Given the description of an element on the screen output the (x, y) to click on. 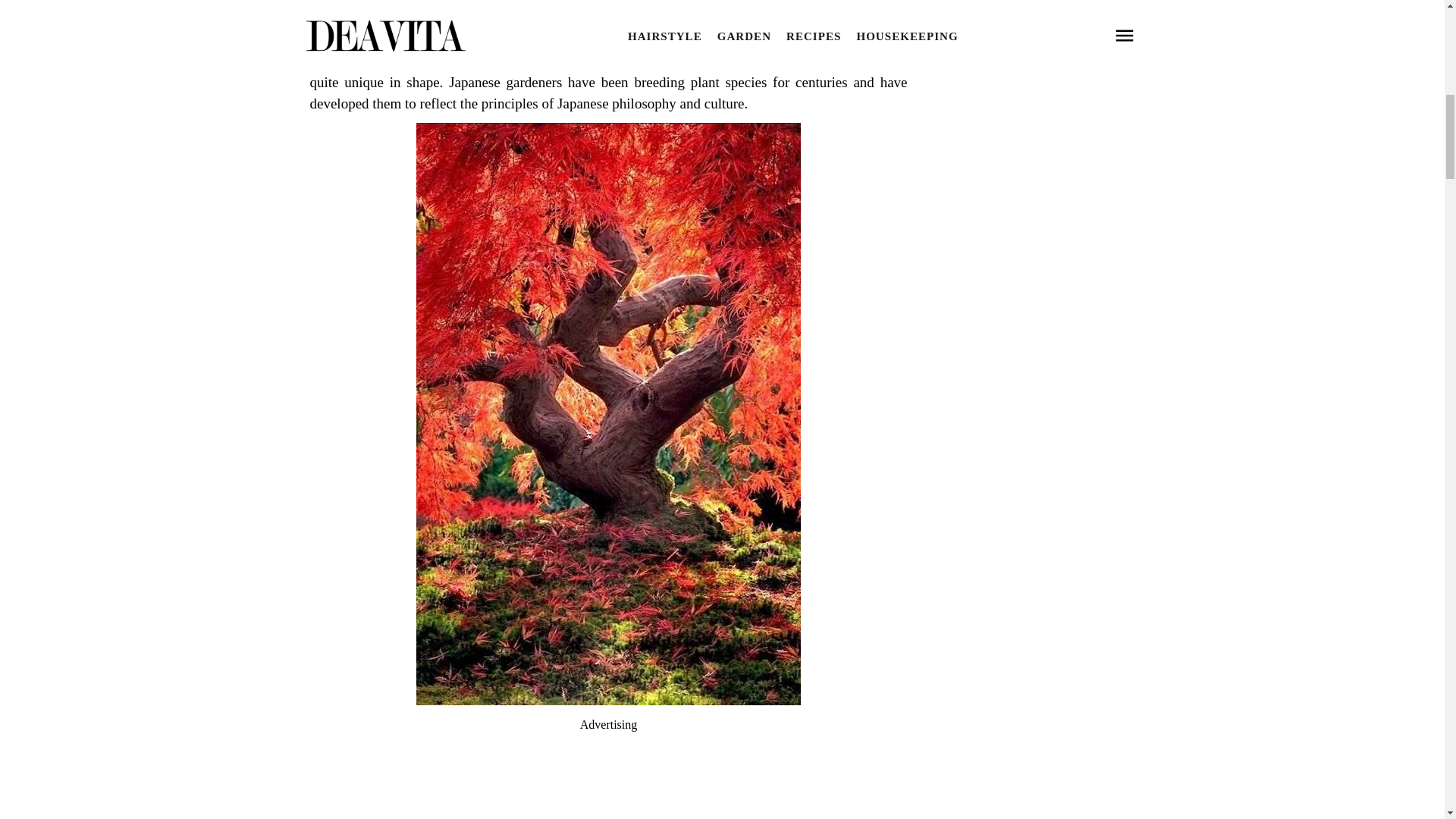
Plants for japanese garden autumn leaf beautiful bridge  (607, 9)
Dragon tree japanese garden design ideas (608, 699)
